Given the description of an element on the screen output the (x, y) to click on. 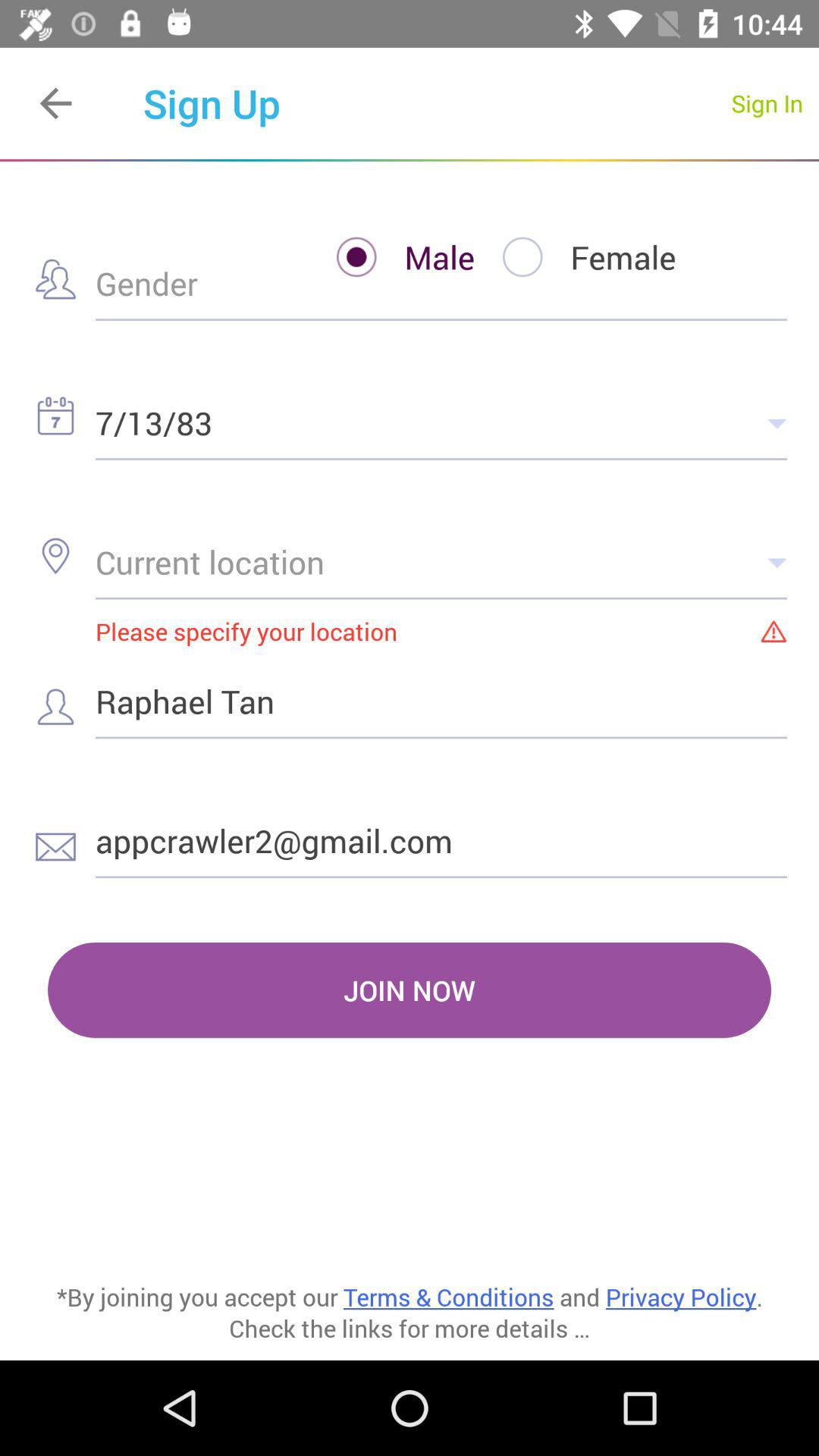
turn off the icon above please specify your (441, 561)
